Given the description of an element on the screen output the (x, y) to click on. 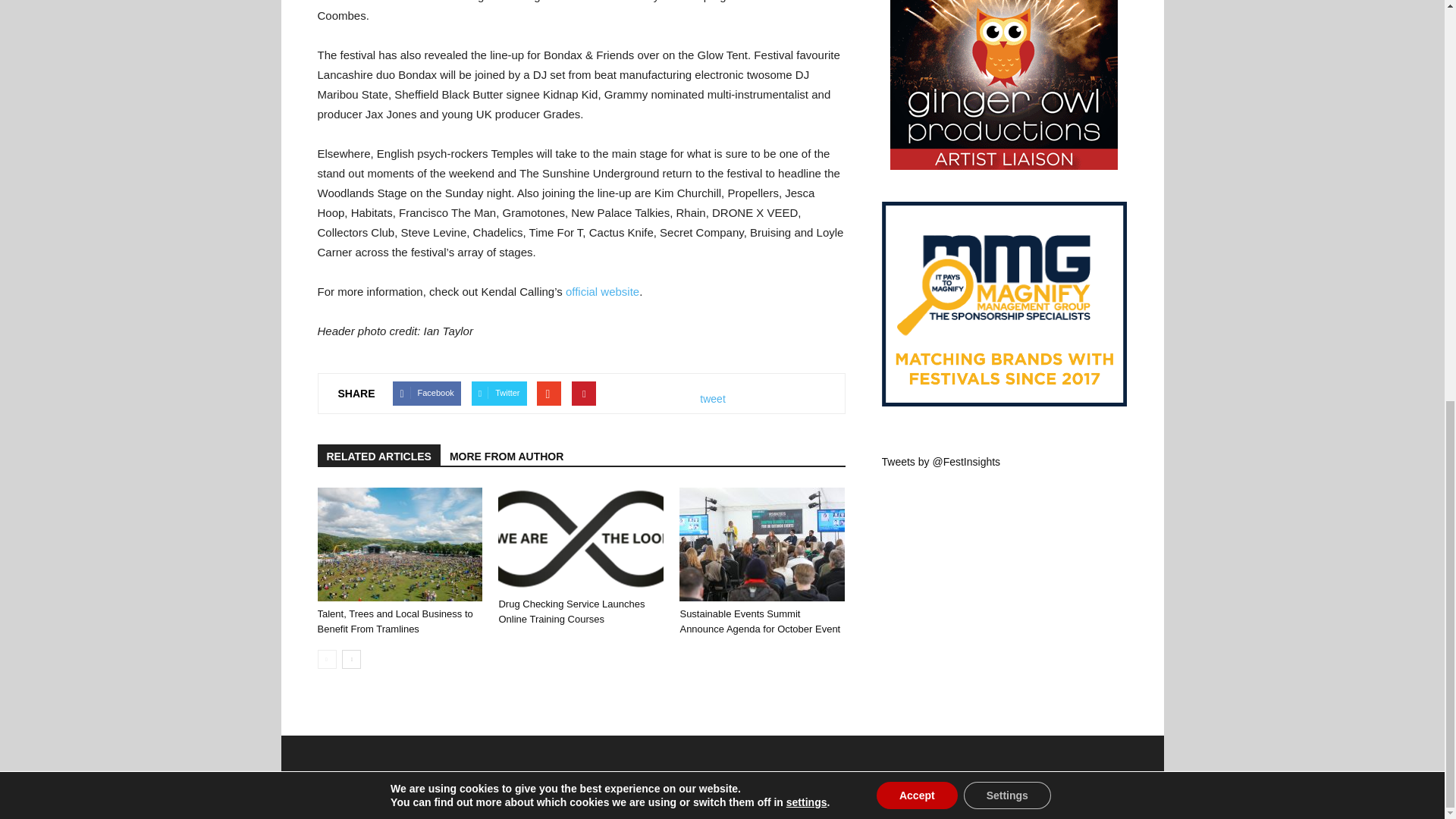
Talent, Trees and Local Business to Benefit From Tramlines (394, 621)
Talent, Trees and Local Business to Benefit From Tramlines (399, 544)
Facebook (426, 393)
official website (602, 291)
Twitter (499, 393)
Drug Checking Service Launches Online Training Courses (580, 539)
